Given the description of an element on the screen output the (x, y) to click on. 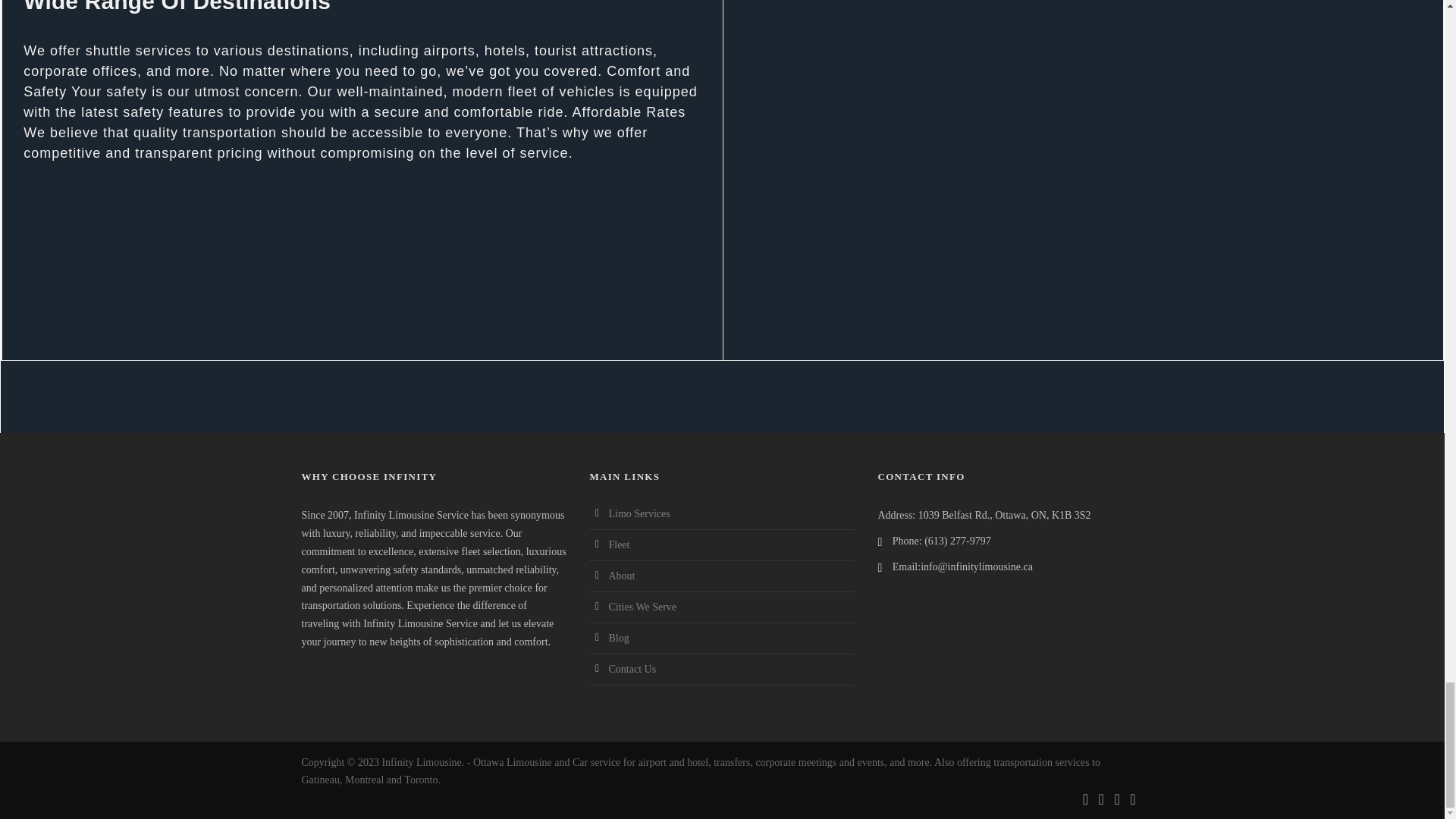
Cities We Serve (642, 606)
Limo Services (638, 513)
About (621, 575)
Blog (618, 637)
Fleet (618, 544)
Contact Us (632, 668)
